Given the description of an element on the screen output the (x, y) to click on. 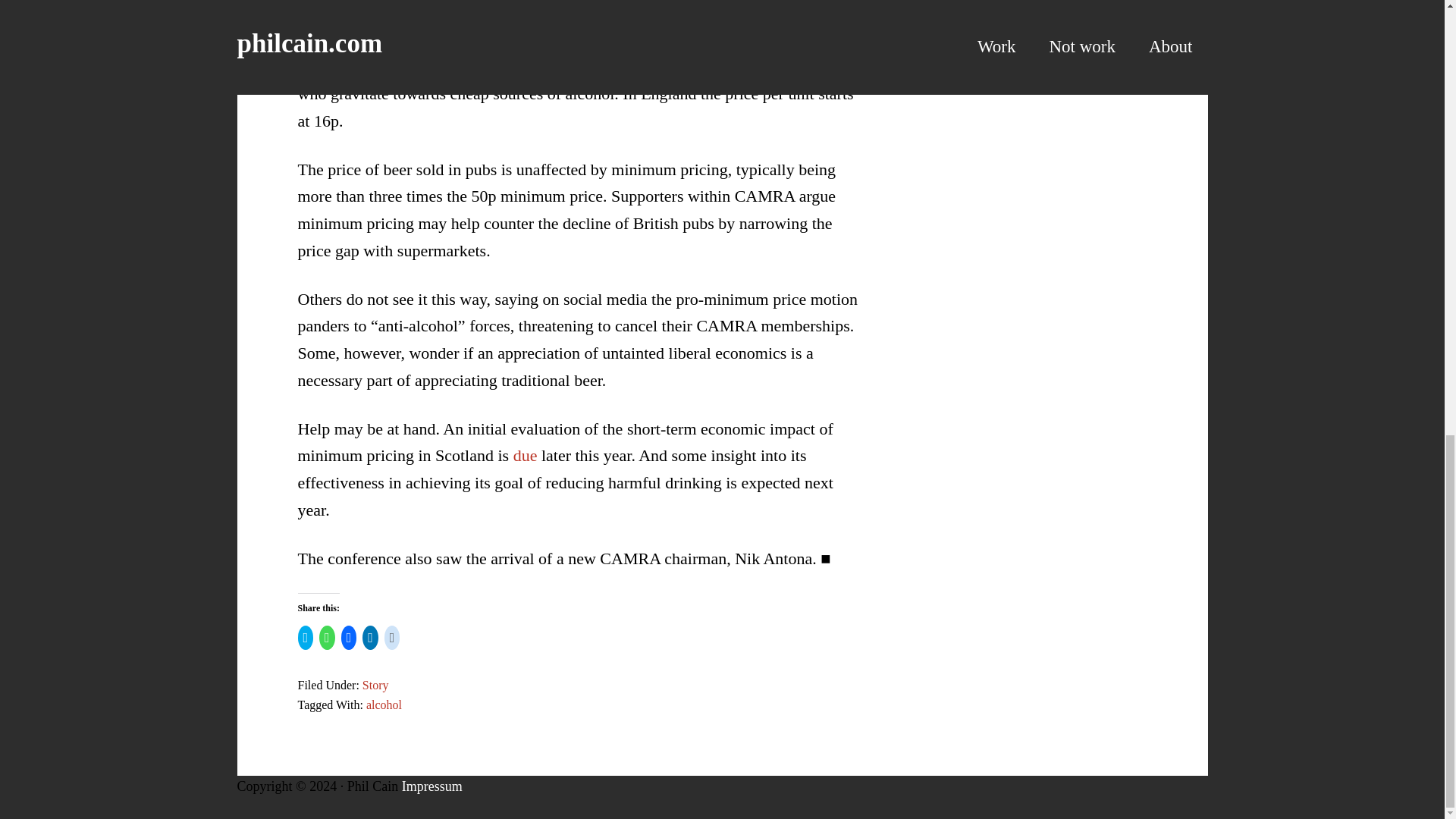
Click to share on WhatsApp (326, 637)
Click to share on Facebook (348, 637)
Impressum (432, 785)
Story (375, 684)
alcohol (383, 704)
Click to share on Twitter (305, 637)
Click to share on Reddit (392, 637)
Click to share on LinkedIn (370, 637)
due (525, 455)
